Given the description of an element on the screen output the (x, y) to click on. 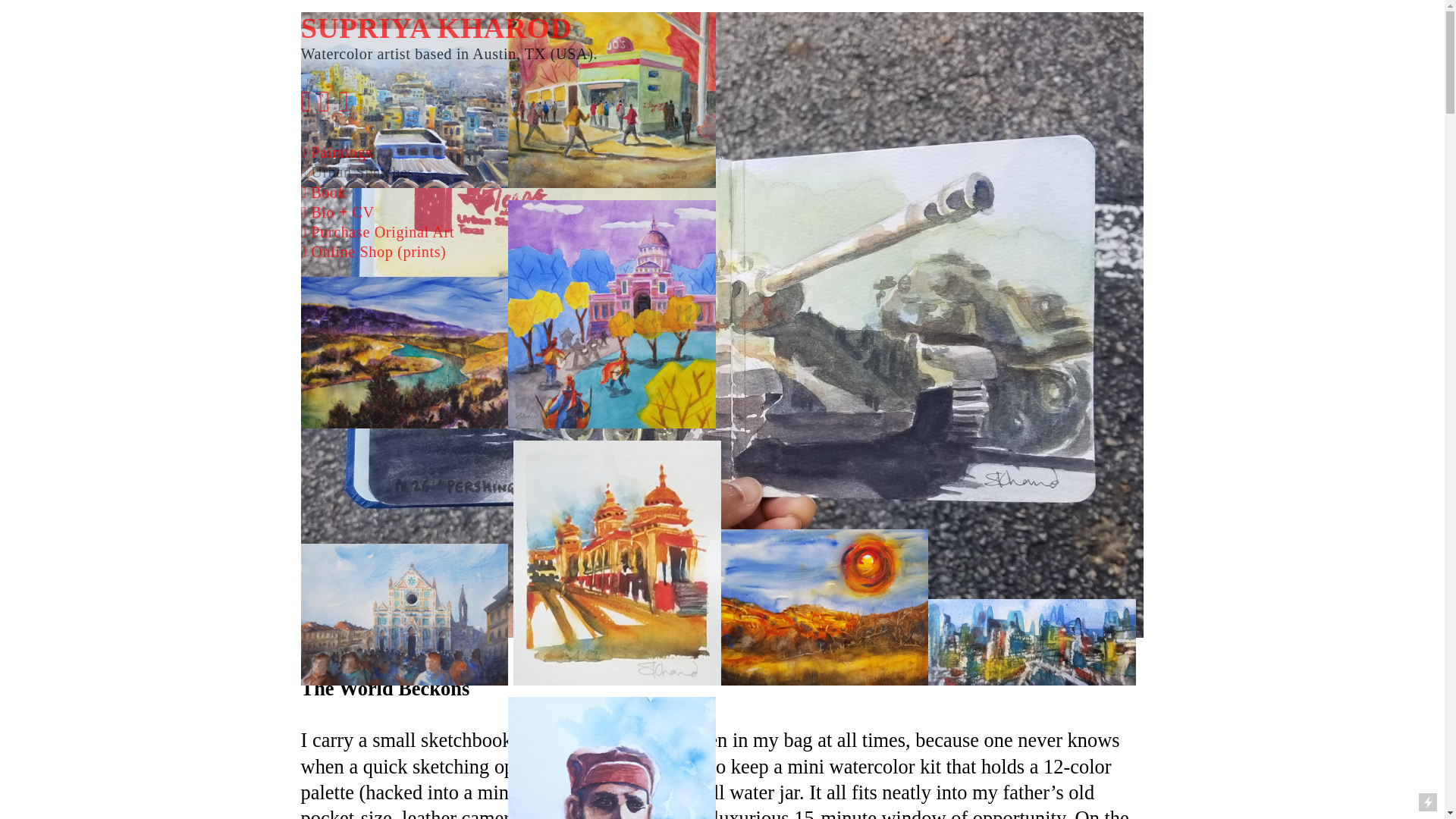
SUPRIYA KHAROD (436, 27)
